Given the description of an element on the screen output the (x, y) to click on. 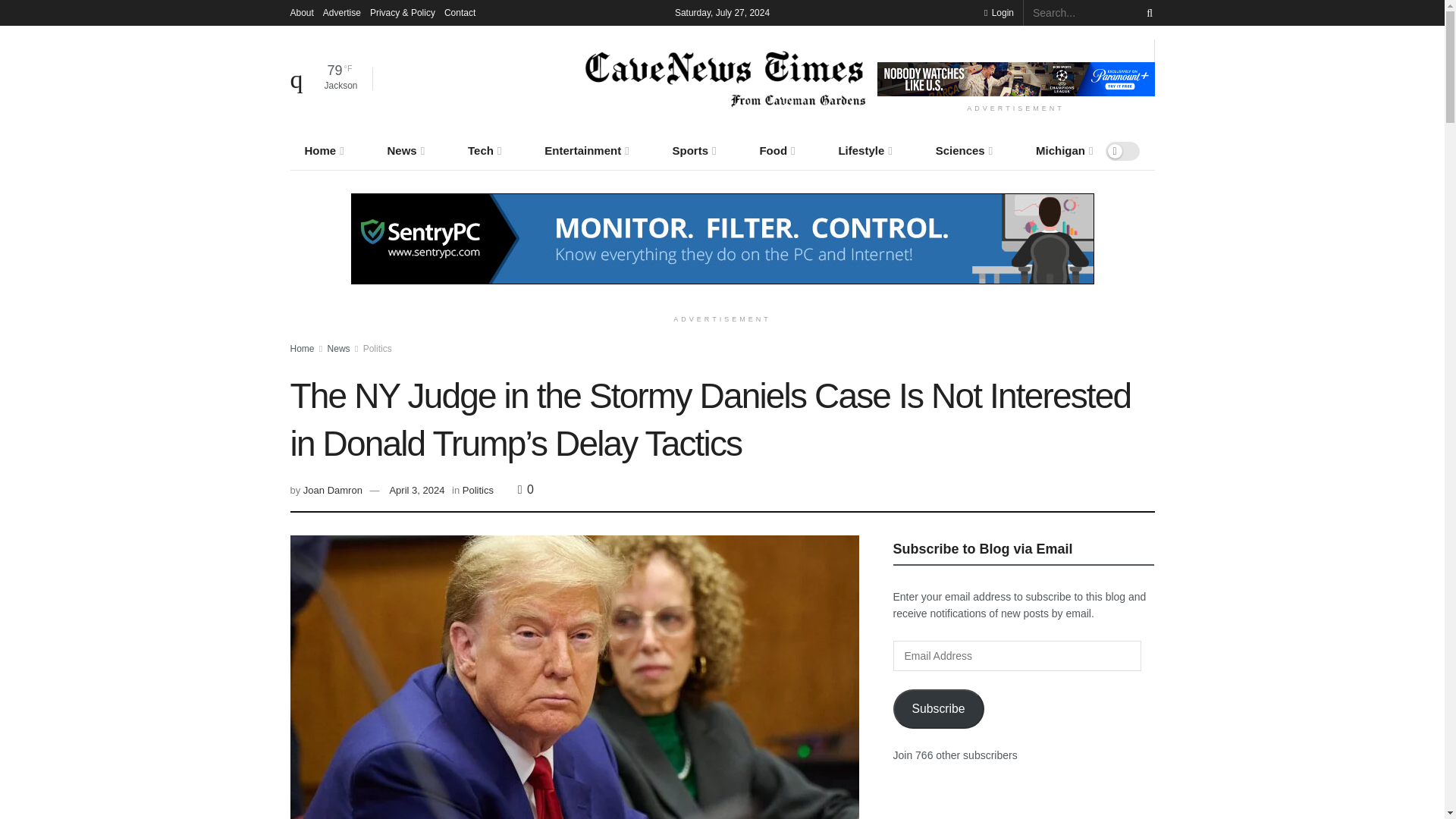
Tech (483, 150)
Login (998, 12)
About (301, 12)
News (404, 150)
Contact (460, 12)
Home (322, 150)
Advertise (342, 12)
